Given the description of an element on the screen output the (x, y) to click on. 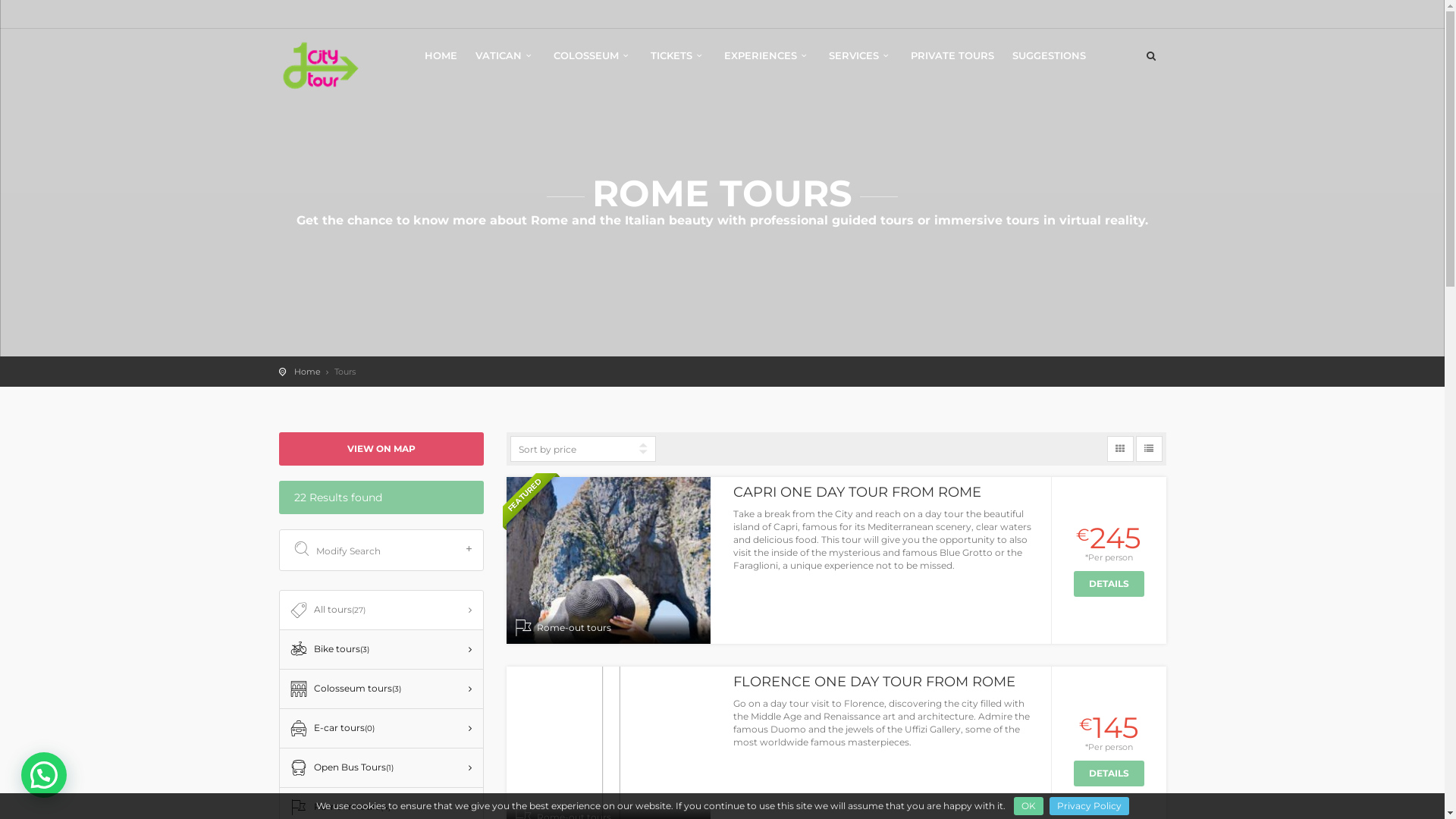
VIEW ON MAP Element type: text (381, 448)
Grid View Element type: hover (1120, 448)
Colosseum tours(3) Element type: text (380, 688)
TICKETS Element type: text (678, 60)
DETAILS Element type: text (1108, 773)
All tours(27) Element type: text (380, 609)
OK Element type: text (1027, 806)
Open Bus Tours(1) Element type: text (380, 767)
VATICAN Element type: text (504, 60)
SUGGESTIONS Element type: text (1049, 60)
HOME Element type: text (440, 60)
Bike tours(3) Element type: text (380, 649)
EXPERIENCES Element type: text (767, 60)
COLOSSEUM Element type: text (592, 60)
E-car tours(0) Element type: text (380, 728)
PRIVATE TOURS Element type: text (952, 60)
List View Element type: hover (1148, 448)
Modify Search Element type: text (383, 549)
SERVICES Element type: text (860, 60)
Privacy Policy Element type: text (1089, 806)
Home Element type: text (307, 371)
DETAILS Element type: text (1108, 583)
